Given the description of an element on the screen output the (x, y) to click on. 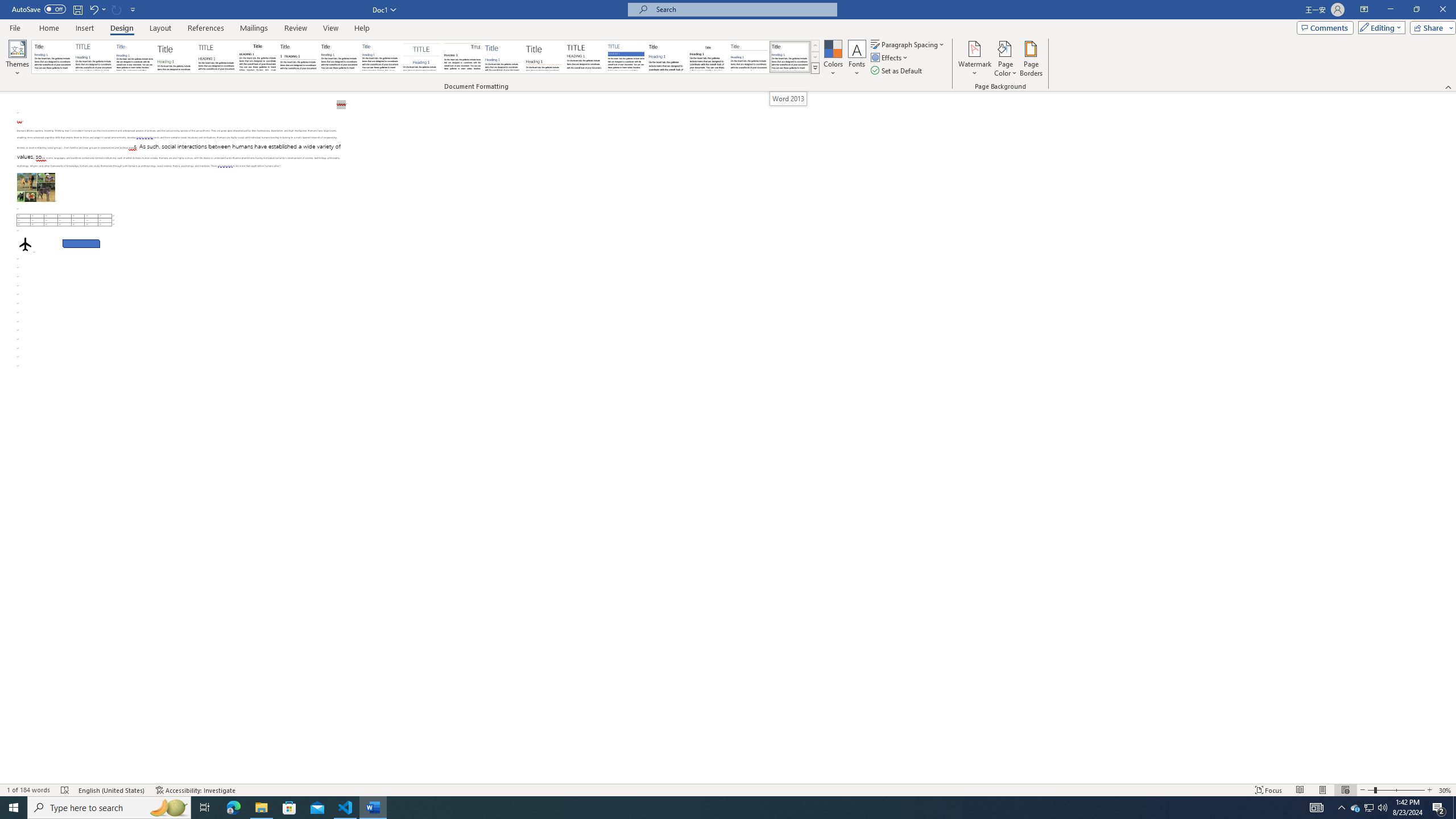
Basic (Elegant) (93, 56)
Black & White (Classic) (257, 56)
Undo Apply Quick Style Set (92, 9)
Lines (Distinctive) (462, 56)
Paragraph Spacing (908, 44)
Page Borders... (1031, 58)
Shaded (625, 56)
Minimalist (584, 56)
